Given the description of an element on the screen output the (x, y) to click on. 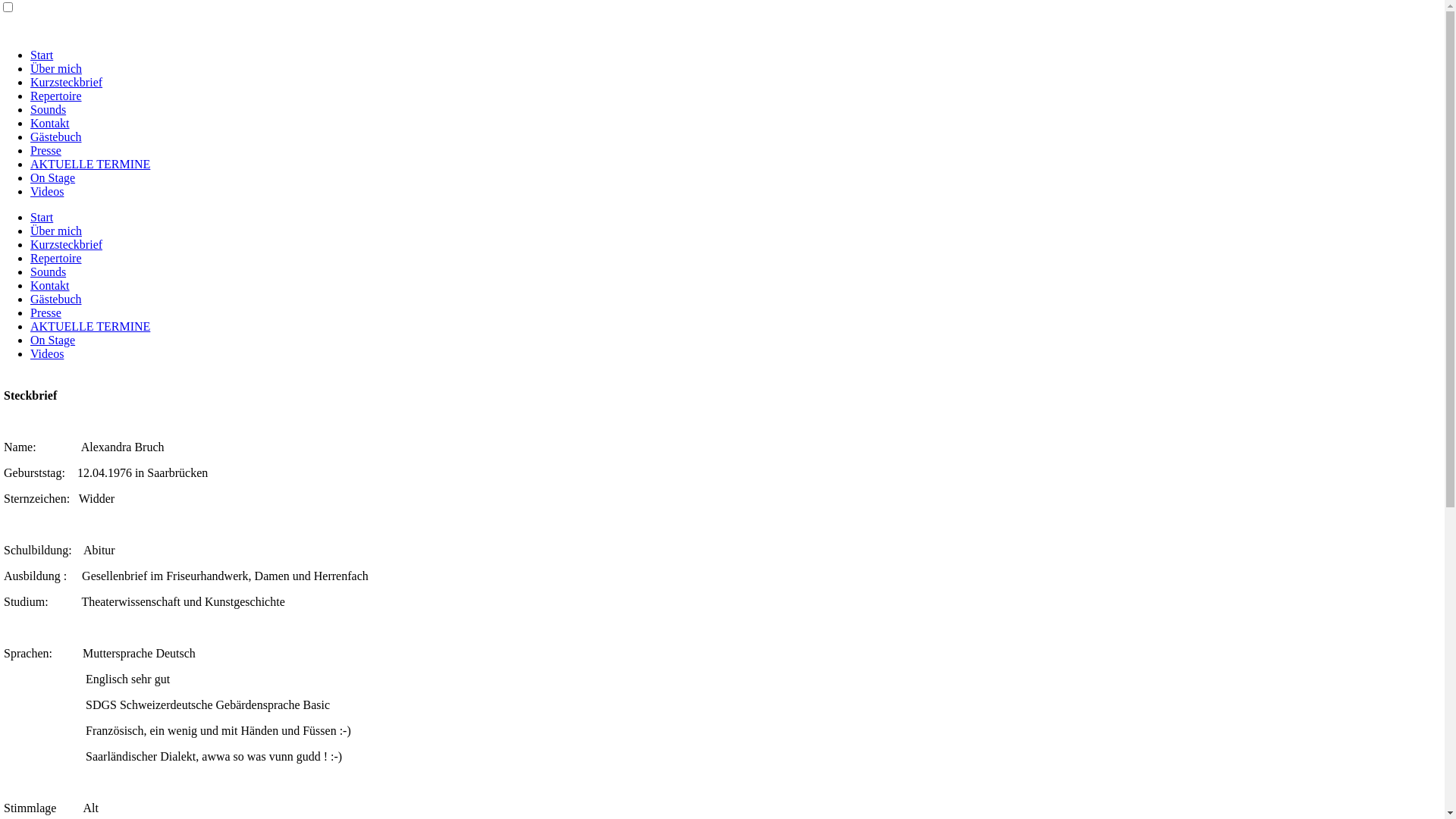
Presse Element type: text (45, 312)
Sounds Element type: text (47, 271)
Repertoire Element type: text (55, 257)
Presse Element type: text (45, 150)
Kurzsteckbrief Element type: text (66, 81)
Kontakt Element type: text (49, 122)
Sounds Element type: text (47, 109)
On Stage Element type: text (52, 177)
Videos Element type: text (46, 353)
On Stage Element type: text (52, 339)
Kurzsteckbrief Element type: text (66, 244)
Kontakt Element type: text (49, 285)
Repertoire Element type: text (55, 95)
Start Element type: text (41, 54)
AKTUELLE TERMINE Element type: text (90, 163)
Videos Element type: text (46, 191)
Start Element type: text (41, 216)
AKTUELLE TERMINE Element type: text (90, 326)
